Given the description of an element on the screen output the (x, y) to click on. 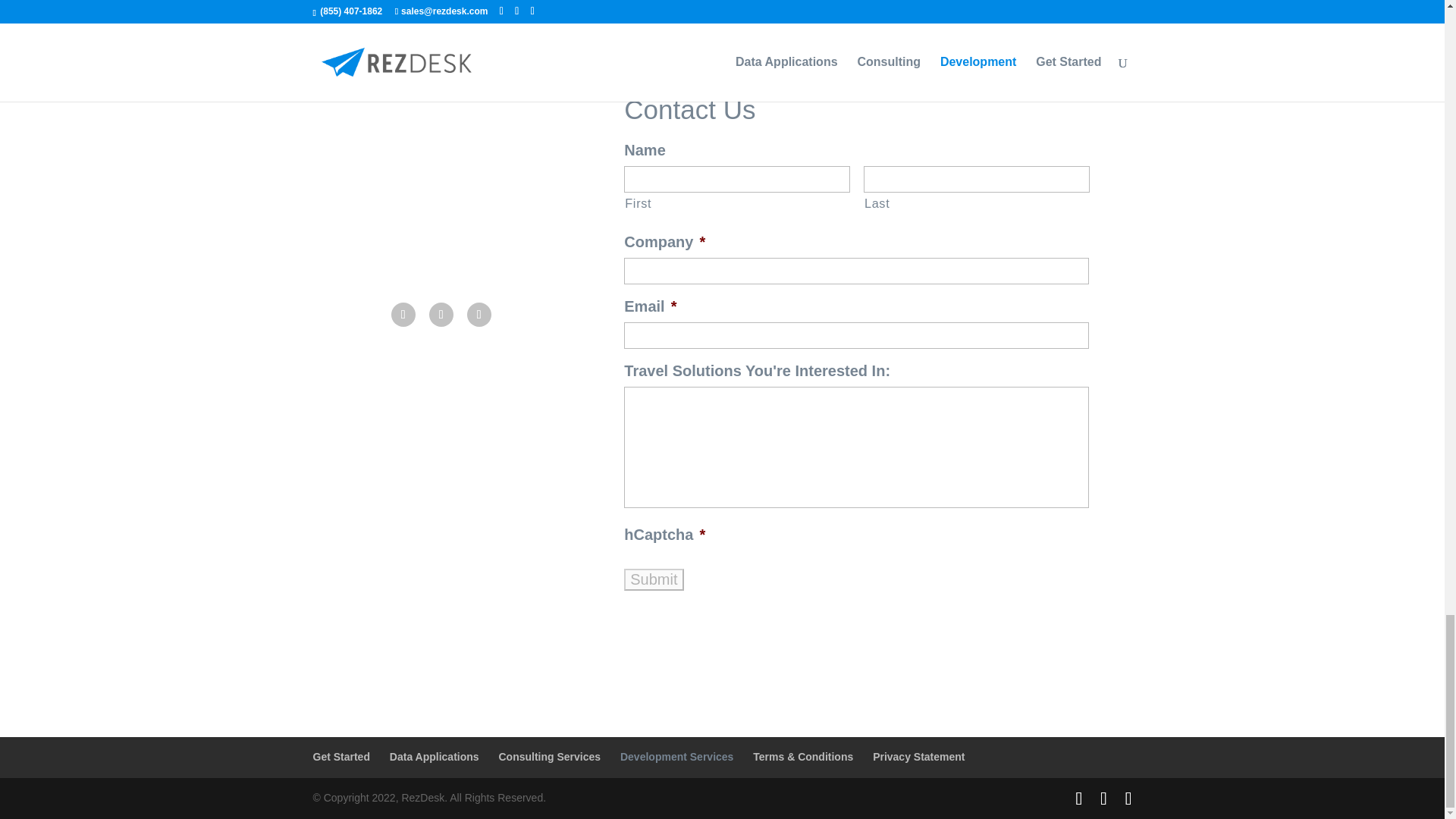
Follow on Facebook (402, 314)
Development Services (676, 756)
Follow on Twitter (440, 314)
Submit (653, 579)
Submit (653, 579)
Data Applications (434, 756)
Follow on LinkedIn (479, 314)
Privacy Statement (917, 756)
Get Started (341, 756)
Consulting Services (548, 756)
